Given the description of an element on the screen output the (x, y) to click on. 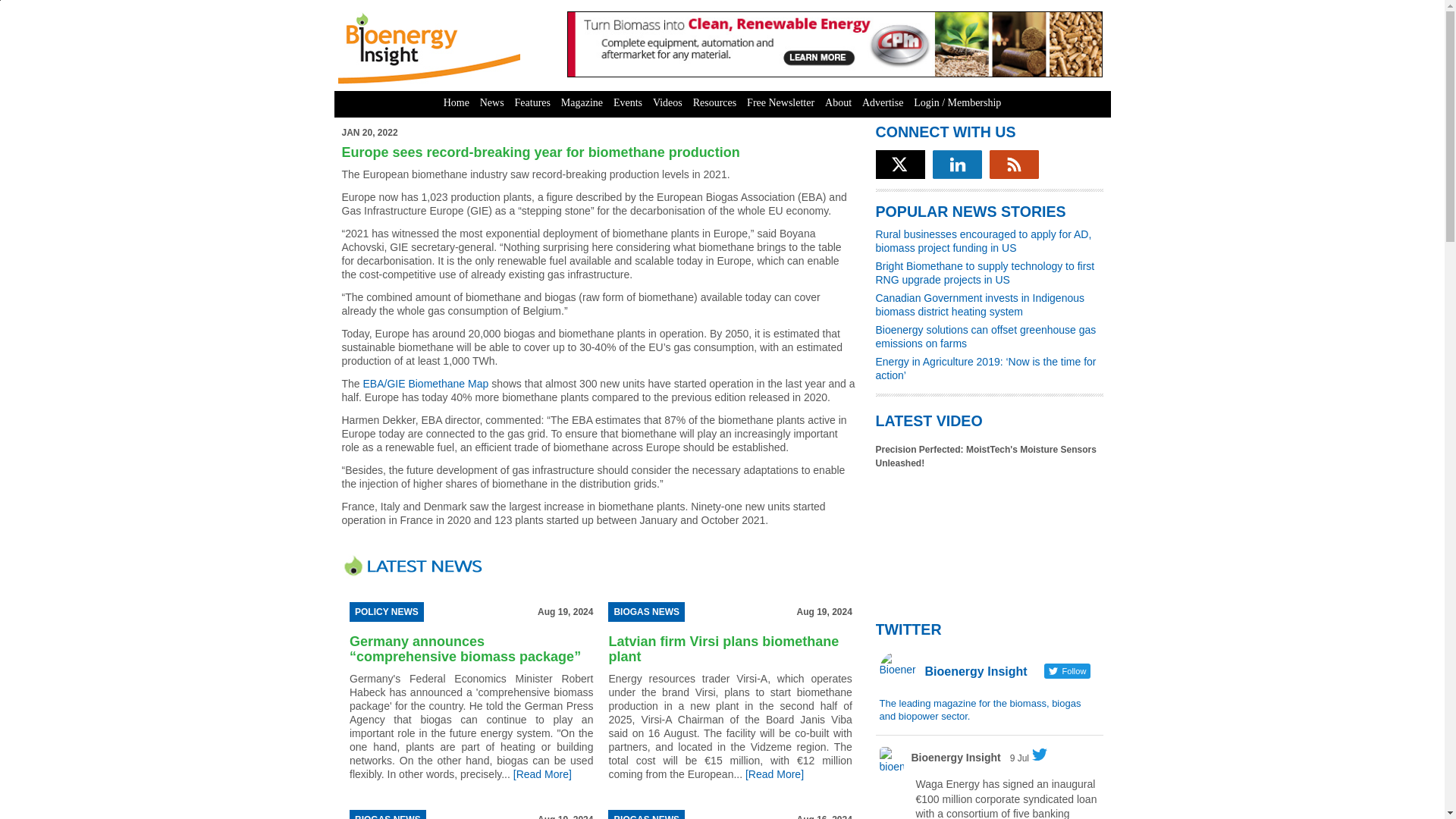
Magazine (582, 102)
Videos (667, 102)
Advertise (883, 102)
Free Newsletter (780, 102)
Features (532, 102)
Resources (714, 102)
